Given the description of an element on the screen output the (x, y) to click on. 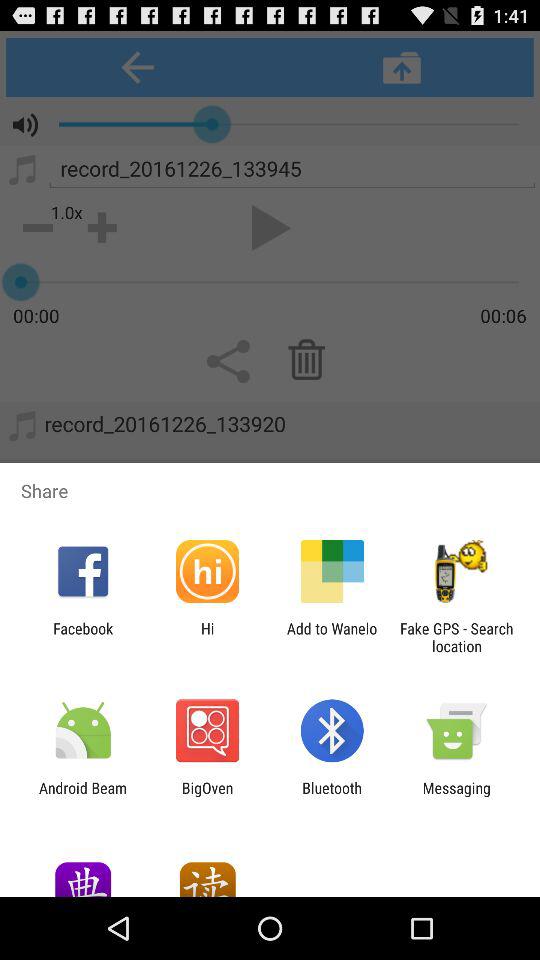
swipe to add to wanelo (331, 637)
